Given the description of an element on the screen output the (x, y) to click on. 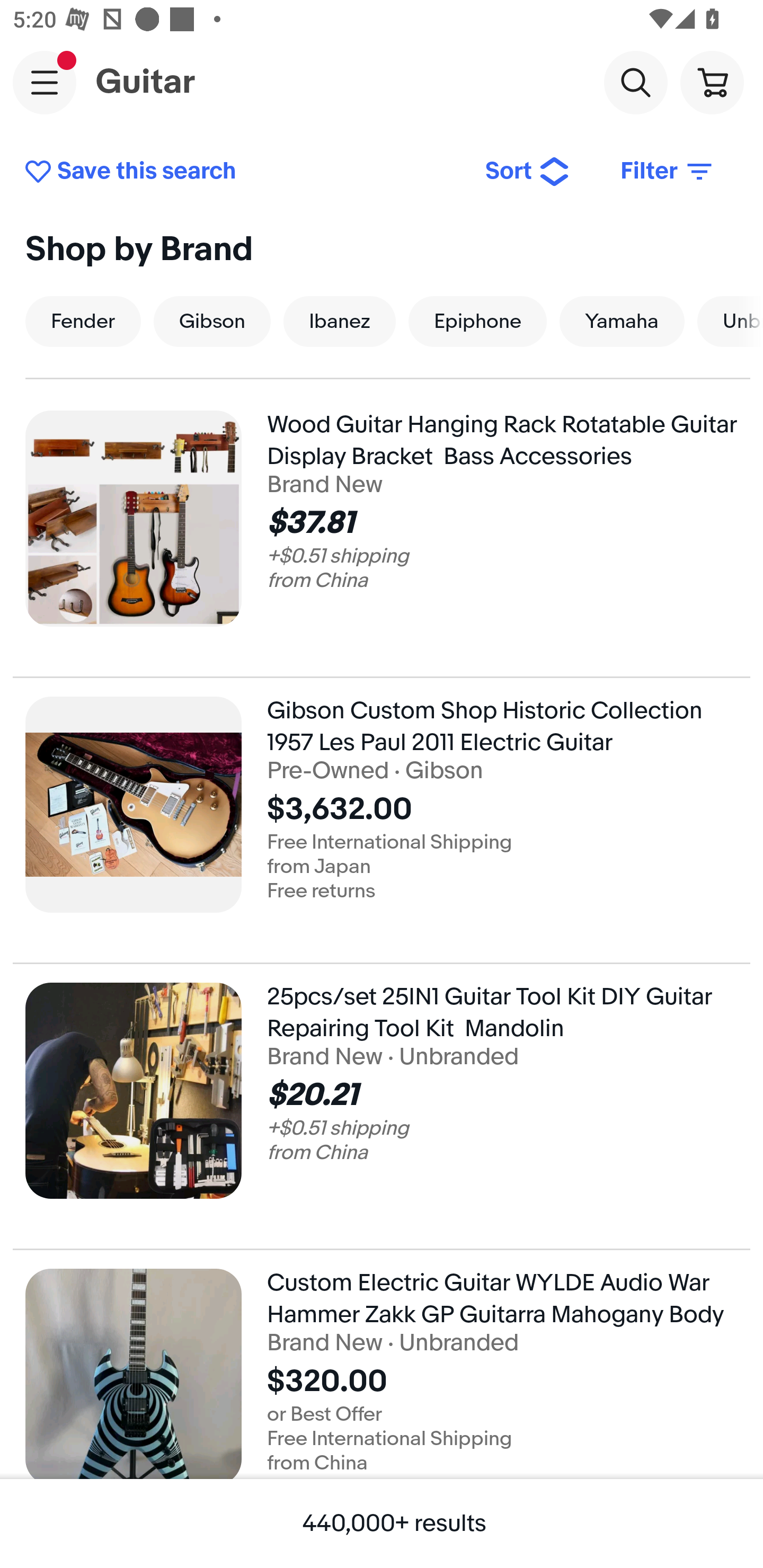
Main navigation, notification is pending, open (44, 82)
Search (635, 81)
Cart button shopping cart (711, 81)
Save this search (241, 171)
Sort (527, 171)
Filter (667, 171)
Fender Fender, Brand (83, 321)
Gibson Gibson, Brand (211, 321)
Ibanez Ibanez, Brand (339, 321)
Epiphone Epiphone, Brand (477, 321)
Yamaha Yamaha, Brand (621, 321)
Unbranded Unbranded, Brand (730, 321)
